Given the description of an element on the screen output the (x, y) to click on. 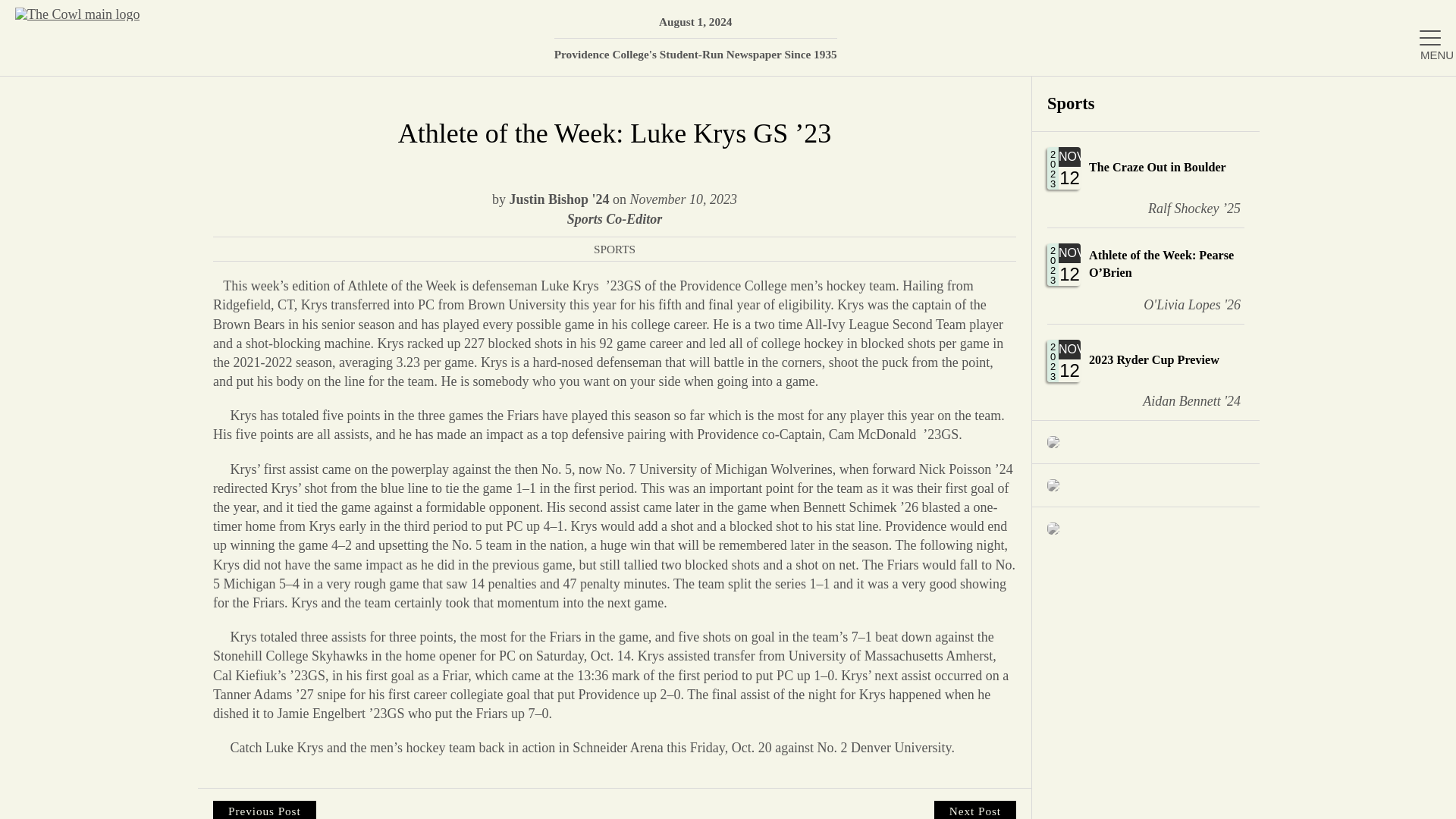
Letters to the Editor (1275, 497)
2023 Ryder Cup Preview (1145, 372)
About Us (1275, 201)
Search (1422, 96)
Search (1422, 96)
Sports (1145, 179)
Opinion (1145, 103)
Sports (1275, 349)
Aidan Bennett '24 (1275, 448)
The Craze Out in Boulder (1180, 400)
Portfolio (1145, 372)
Previous Post (1145, 179)
News (1275, 399)
